Given the description of an element on the screen output the (x, y) to click on. 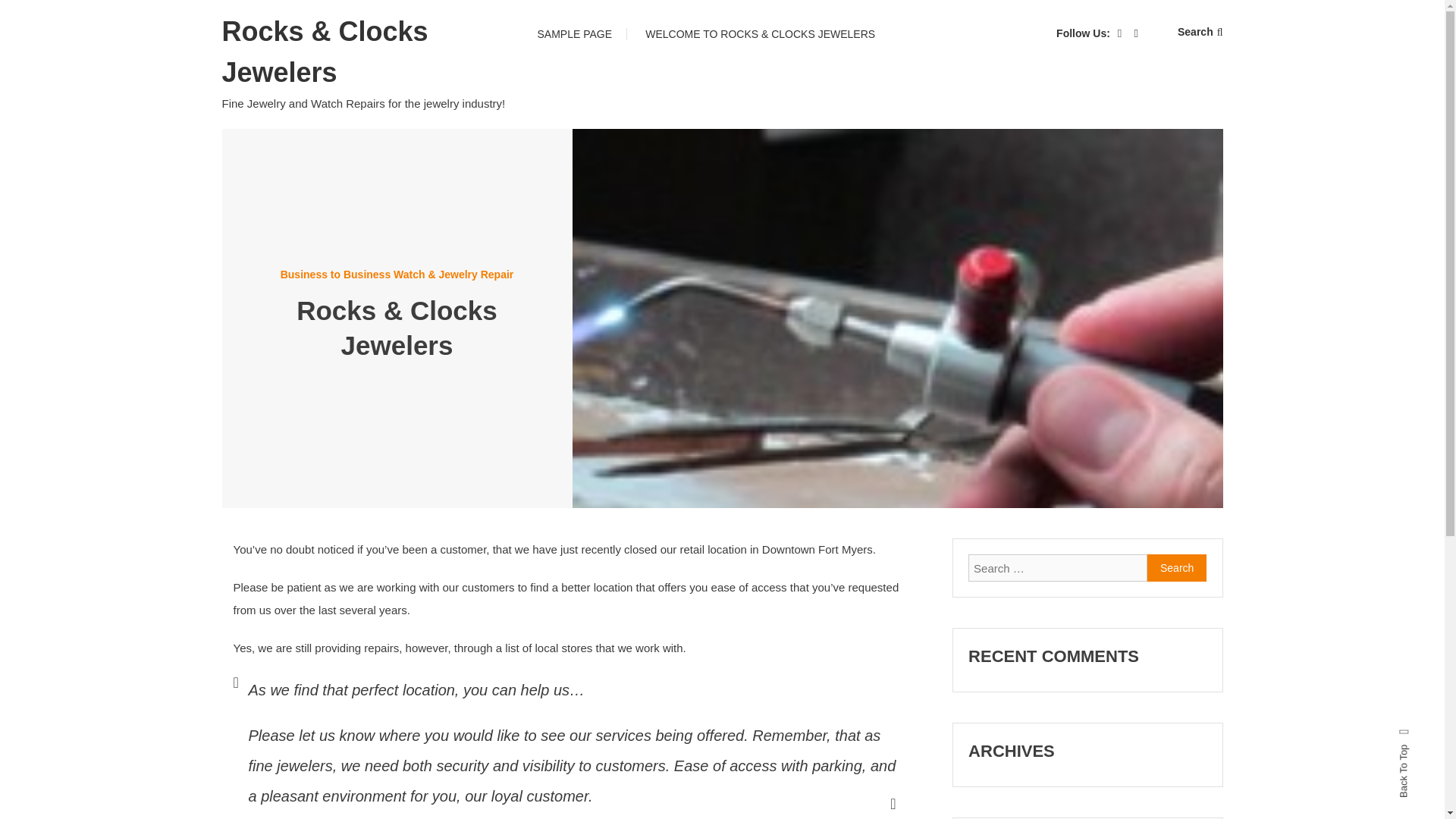
Search (1177, 567)
Search (1177, 567)
Search (768, 432)
SAMPLE PAGE (574, 33)
Search (1177, 567)
